Given the description of an element on the screen output the (x, y) to click on. 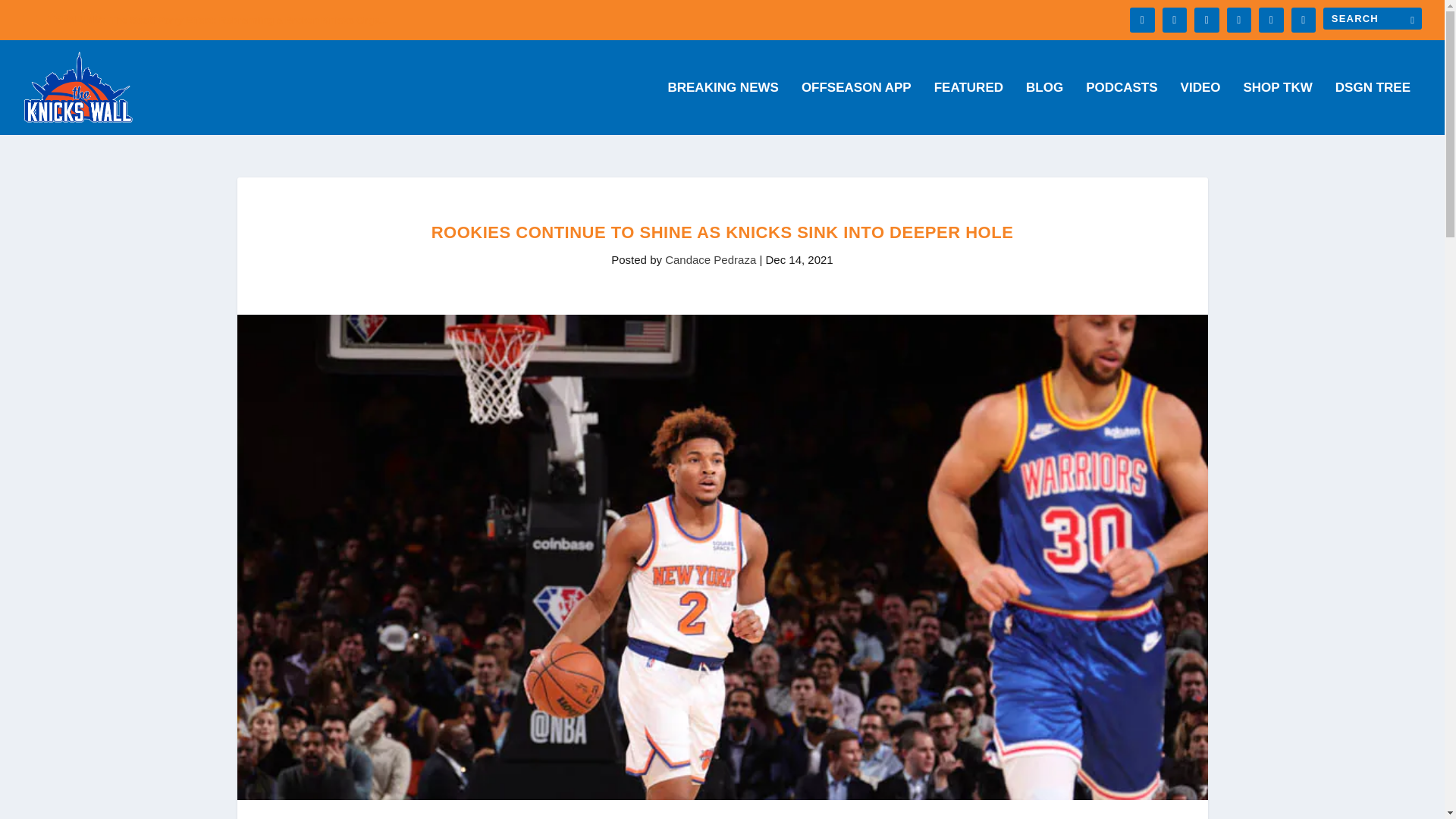
SHOP TKW (1278, 108)
FEATURED (968, 108)
DSGN TREE (1372, 108)
Search for: (1372, 18)
Candace Pedraza (710, 259)
OFFSEASON APP (856, 108)
The Scott Perry Effect: Rebranding a Broken Knicks Orga... (248, 19)
BREAKING NEWS (721, 108)
PODCASTS (1121, 108)
Posts by Candace Pedraza (710, 259)
